Given the description of an element on the screen output the (x, y) to click on. 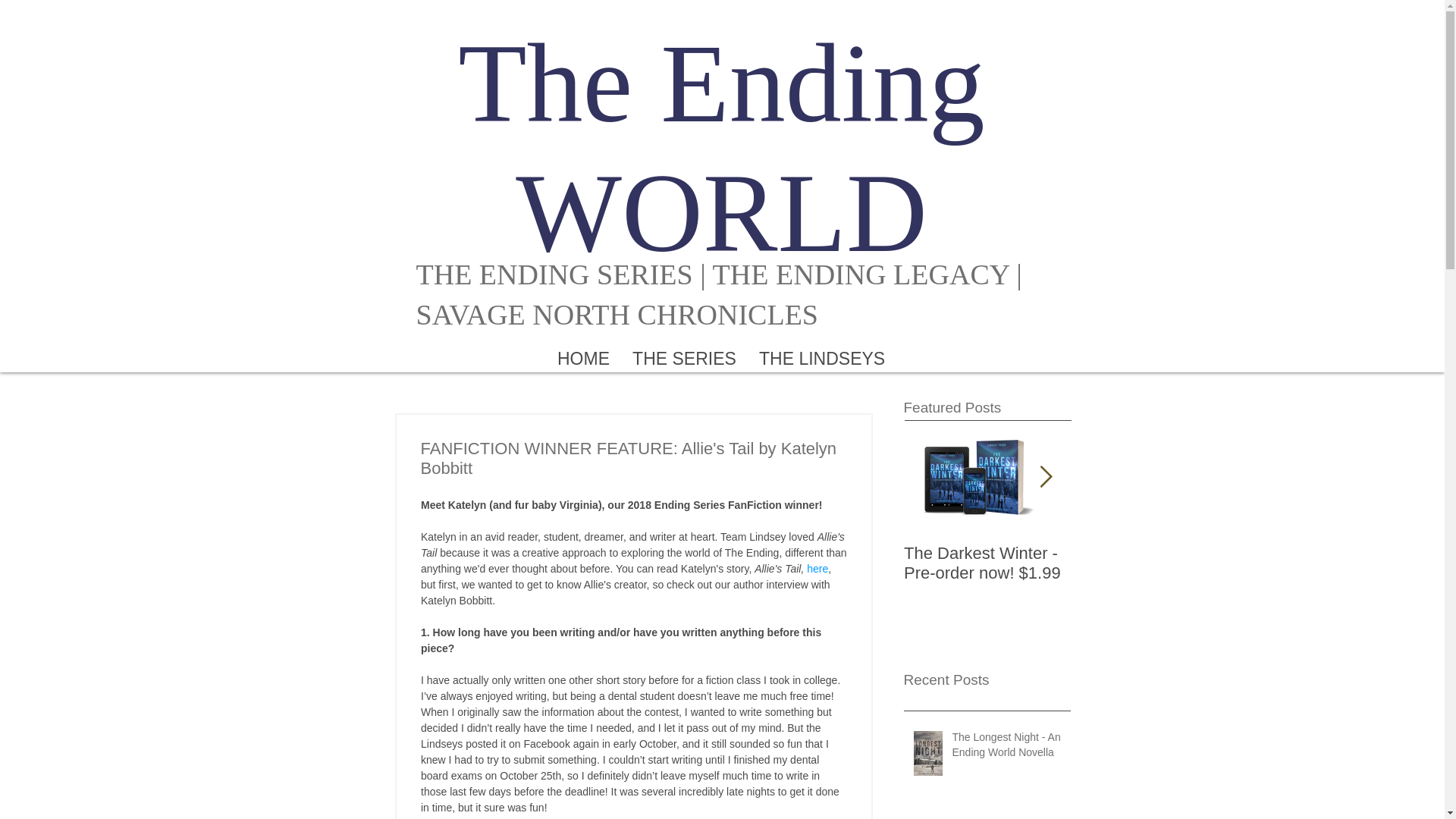
The Longest Night - An Ending World Novella (1006, 747)
HOME (583, 357)
The Ending Series has a new look! (1153, 563)
here (817, 568)
THE LINDSEYS (822, 357)
